Given the description of an element on the screen output the (x, y) to click on. 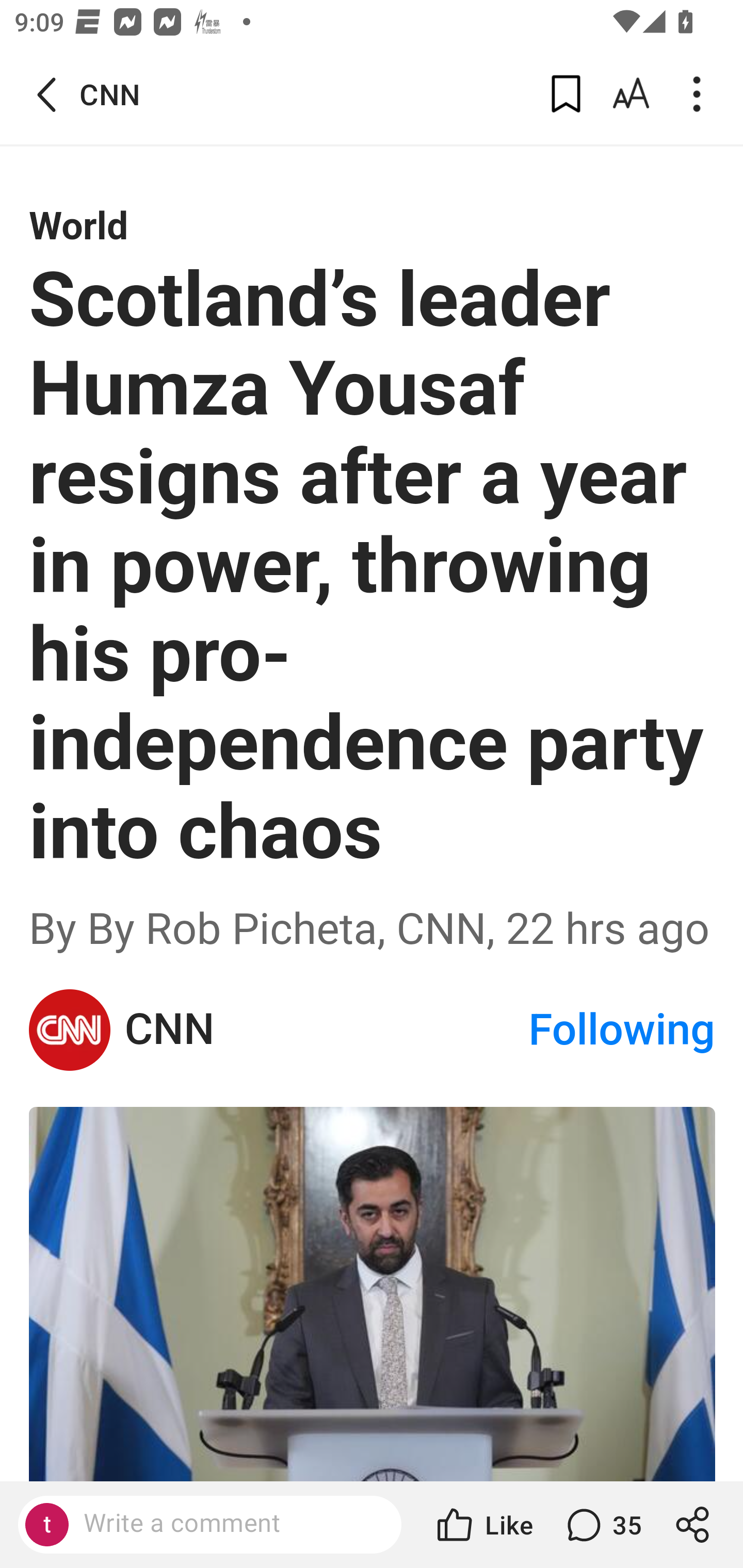
Like (483, 1524)
35 (601, 1524)
Write a comment (226, 1523)
